Given the description of an element on the screen output the (x, y) to click on. 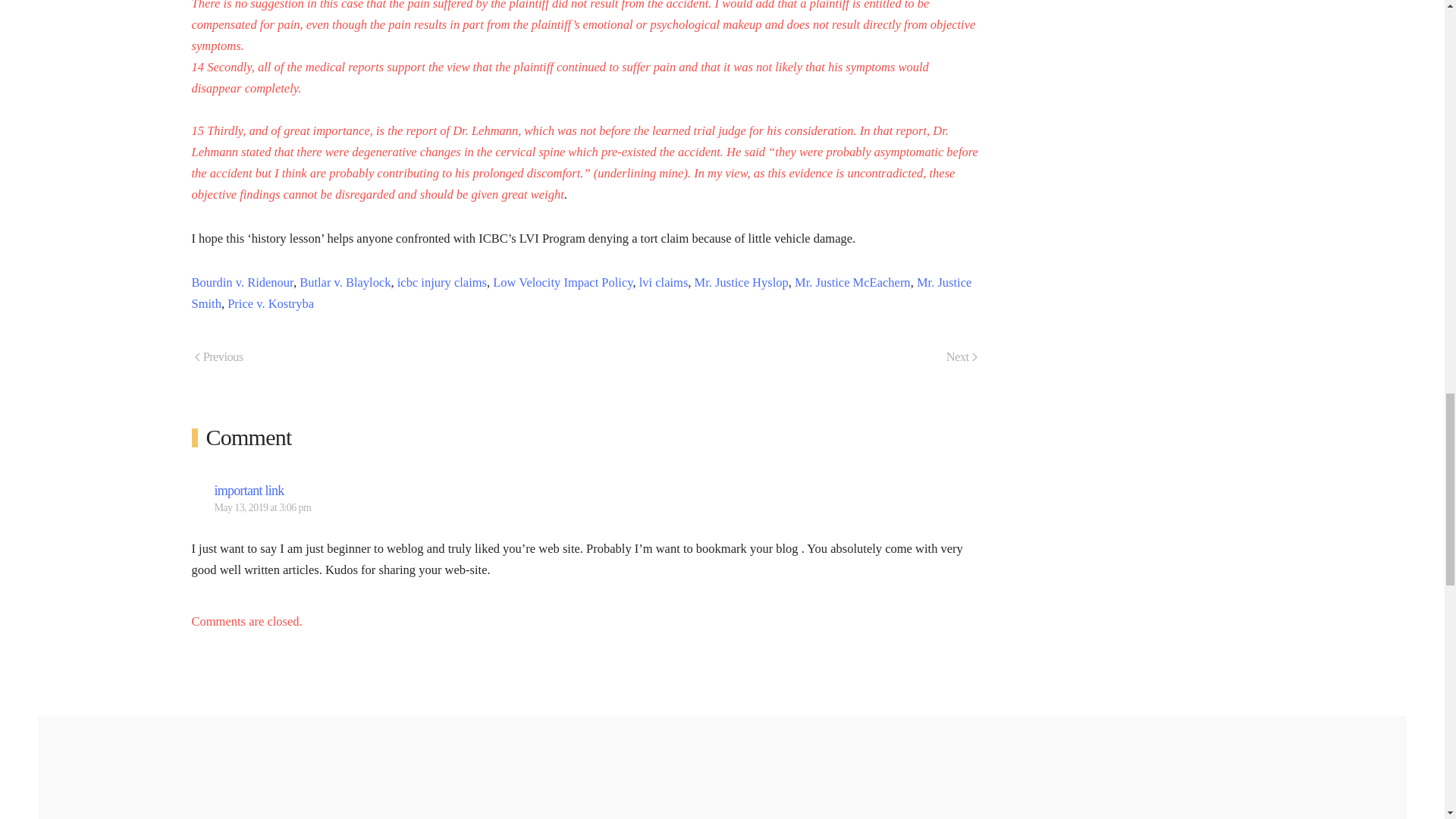
Butlar v. Blaylock (344, 282)
Previous (218, 357)
Mr. Justice McEachern (852, 282)
Mr. Justice Smith (580, 293)
May 13, 2019 at 3:06 pm (262, 507)
important link (248, 490)
Low Velocity Impact Policy (562, 282)
Price v. Kostryba (270, 303)
Mr. Justice Hyslop (741, 282)
icbc injury claims (441, 282)
